Given the description of an element on the screen output the (x, y) to click on. 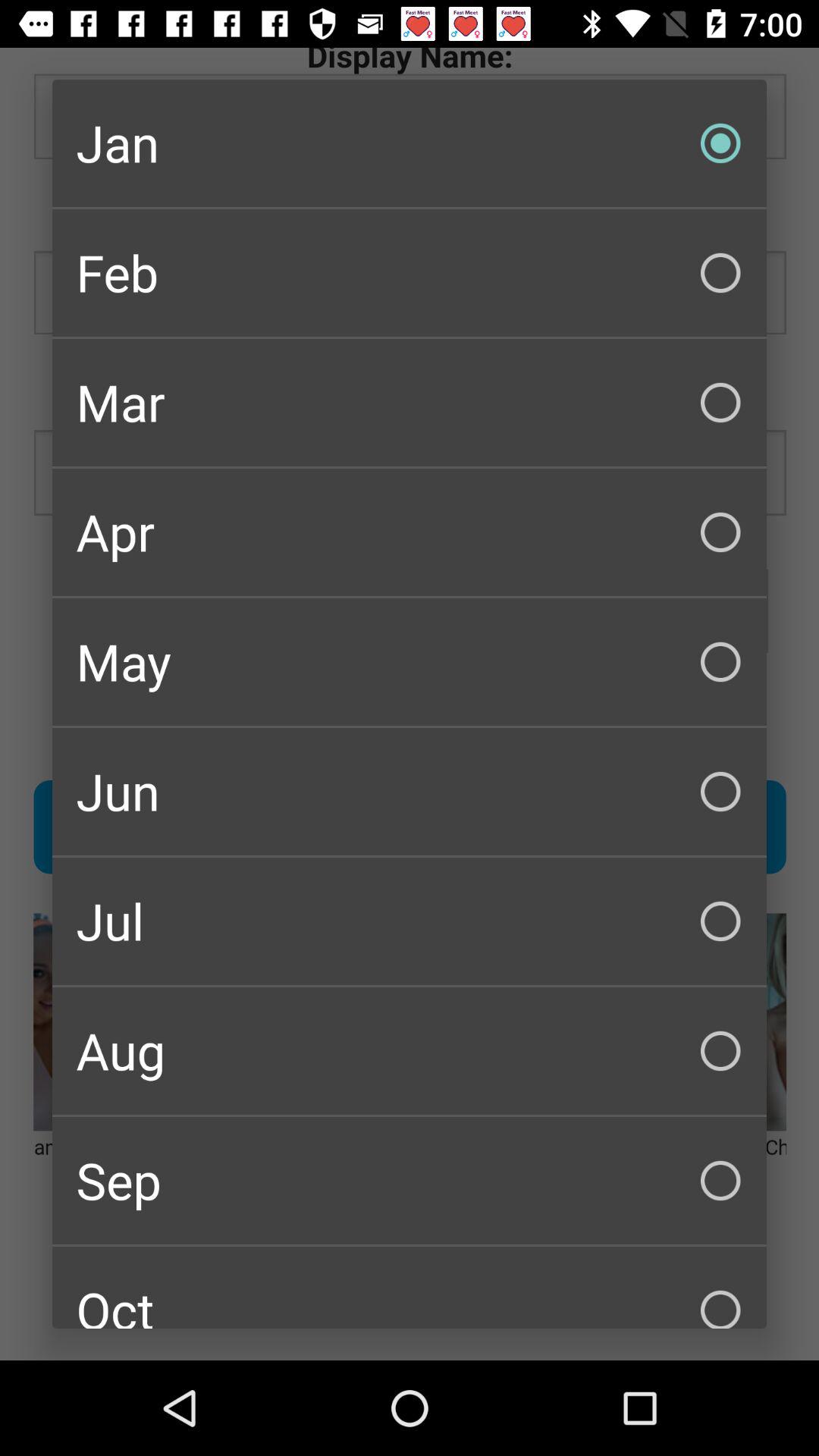
press checkbox above the oct icon (409, 1180)
